Given the description of an element on the screen output the (x, y) to click on. 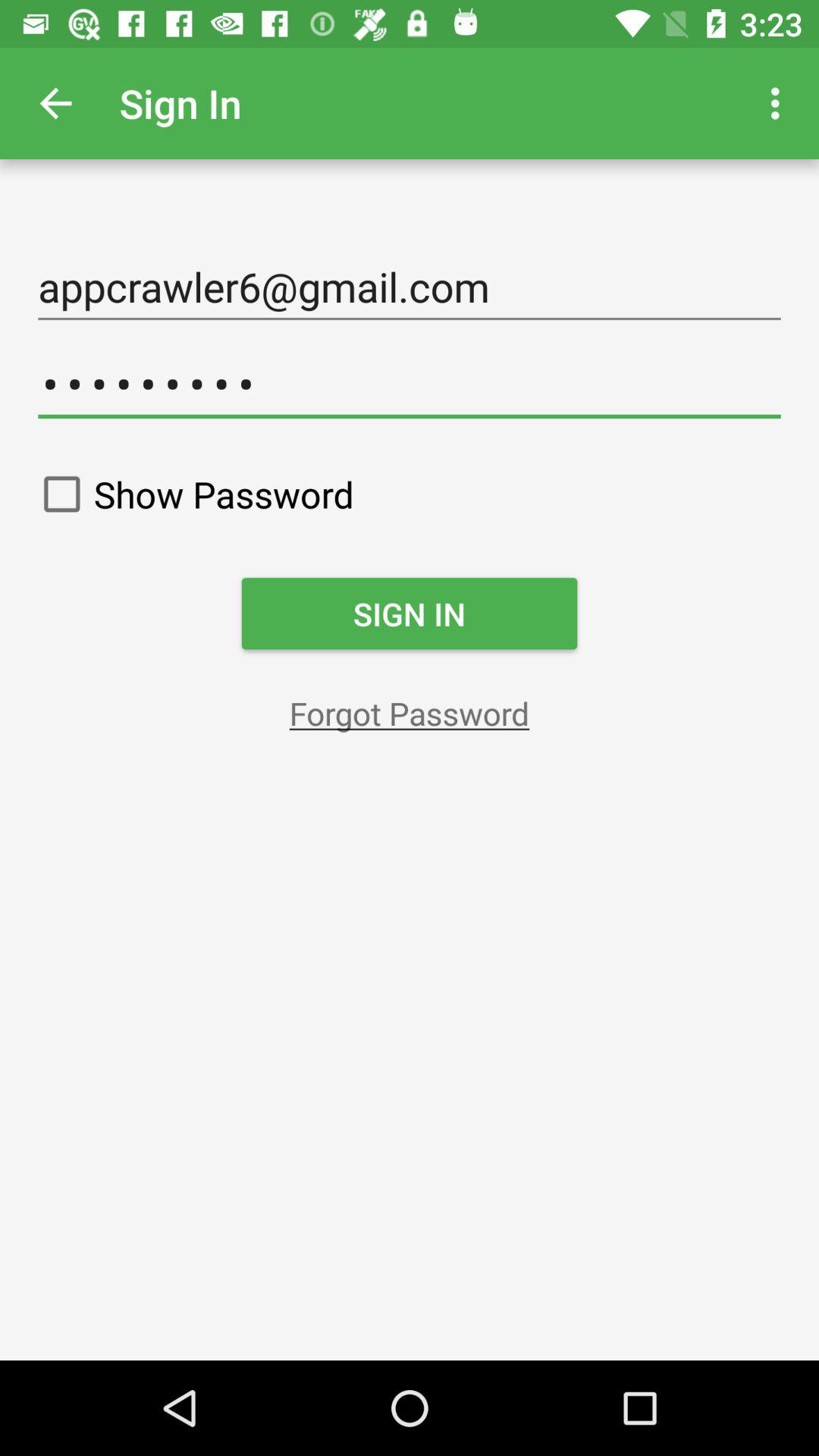
choose crowd3116 (409, 383)
